Given the description of an element on the screen output the (x, y) to click on. 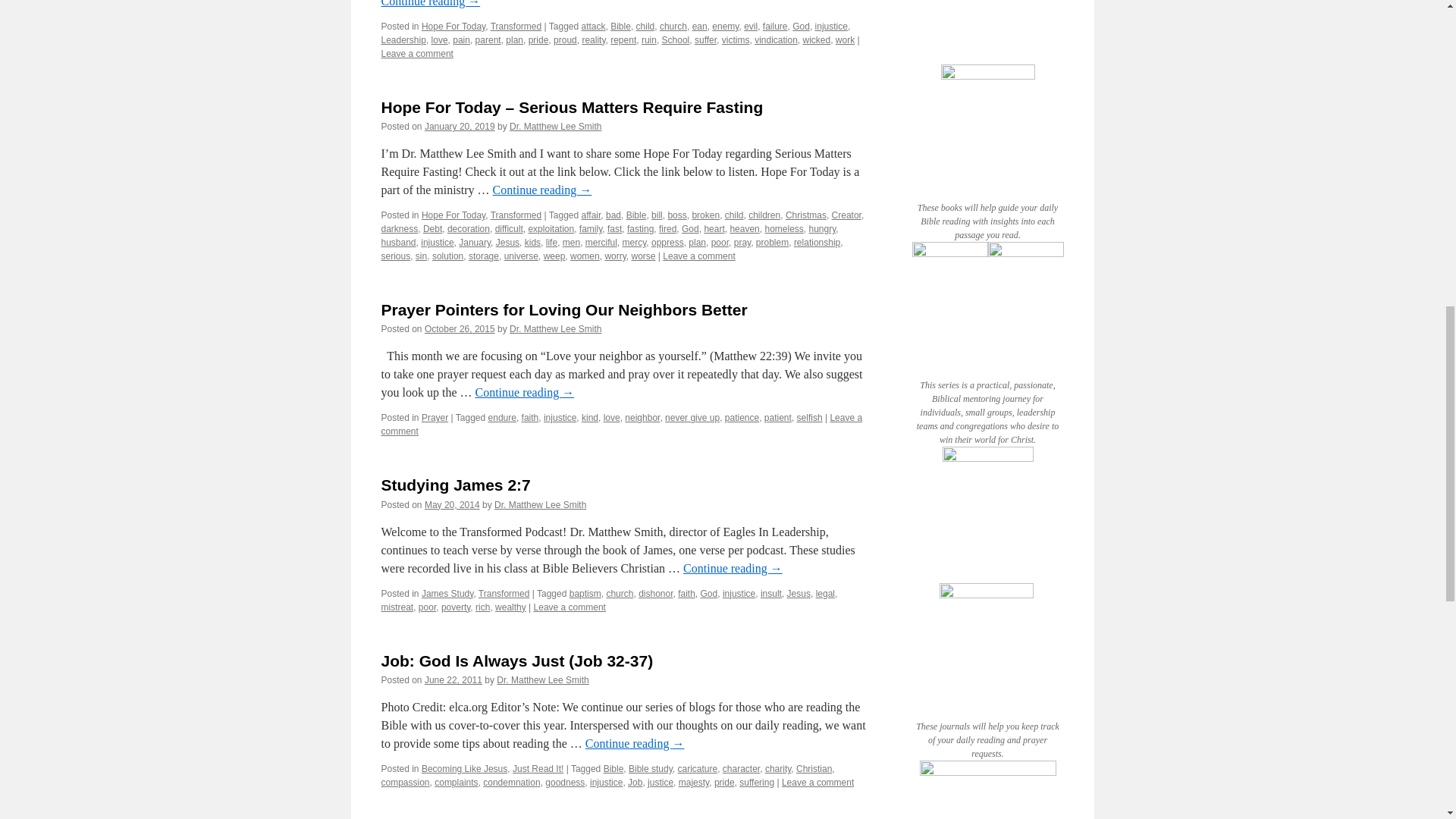
View all posts by Dr. Matthew Lee Smith (555, 126)
5:09 am (453, 679)
3:00 am (460, 126)
View all posts by Dr. Matthew Lee Smith (555, 328)
View all posts by Dr. Matthew Lee Smith (542, 679)
View all posts by Dr. Matthew Lee Smith (540, 504)
6:00 am (452, 504)
6:00 am (460, 328)
